Given the description of an element on the screen output the (x, y) to click on. 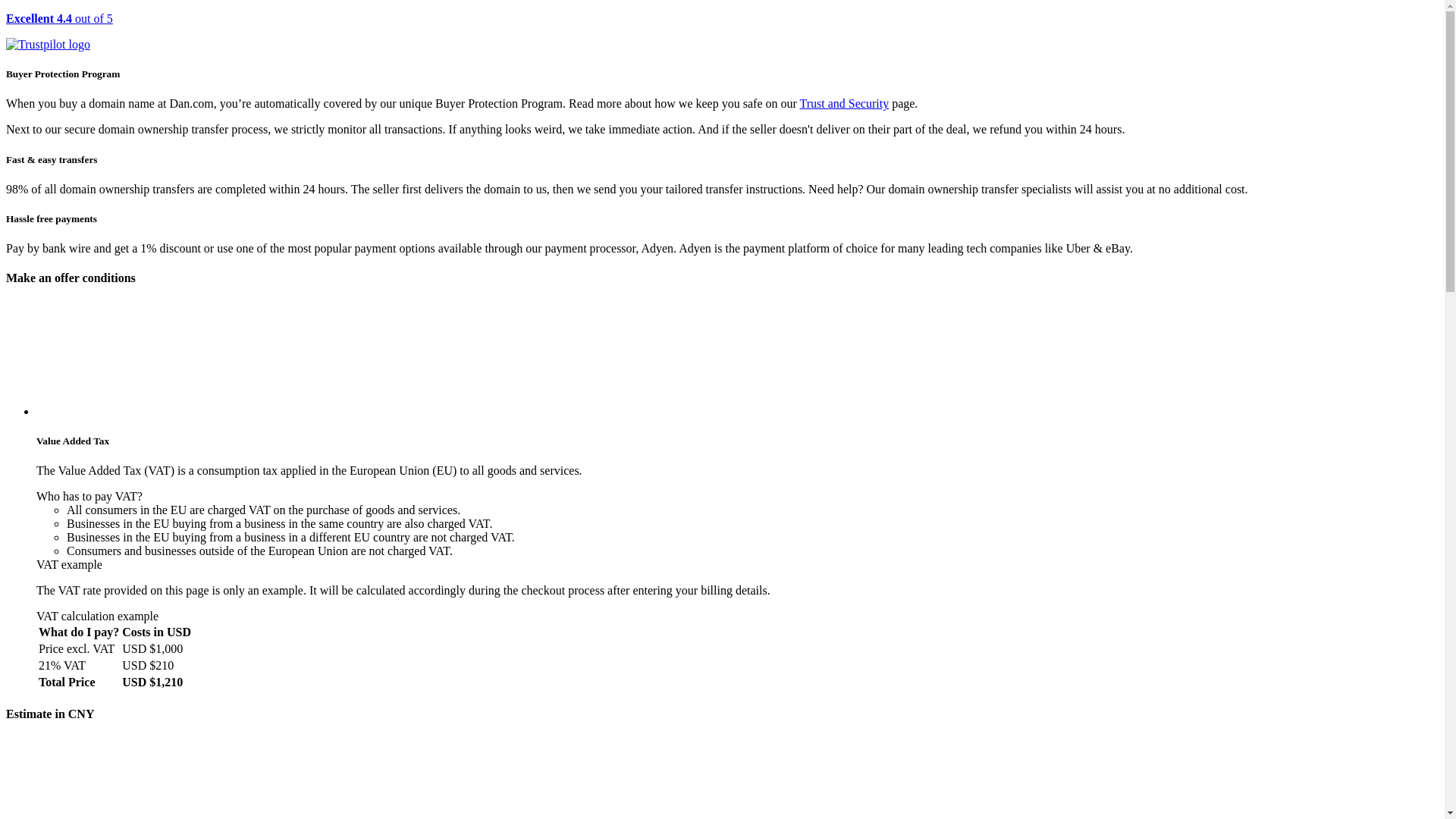
Trust and Security Element type: text (844, 103)
Excellent 4.4 out of 5 Element type: text (722, 31)
